Given the description of an element on the screen output the (x, y) to click on. 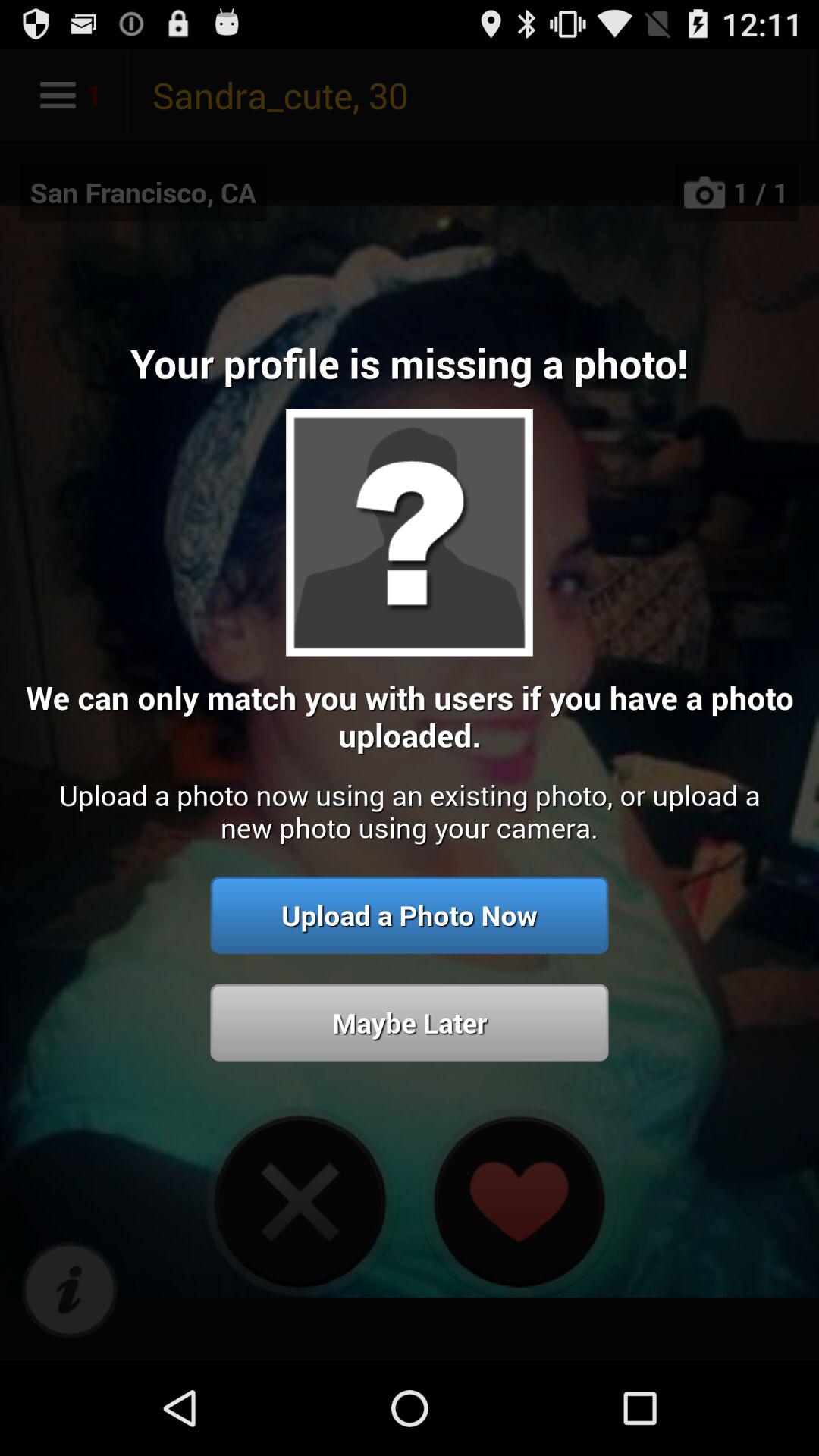
select the maybe later (409, 1022)
